Given the description of an element on the screen output the (x, y) to click on. 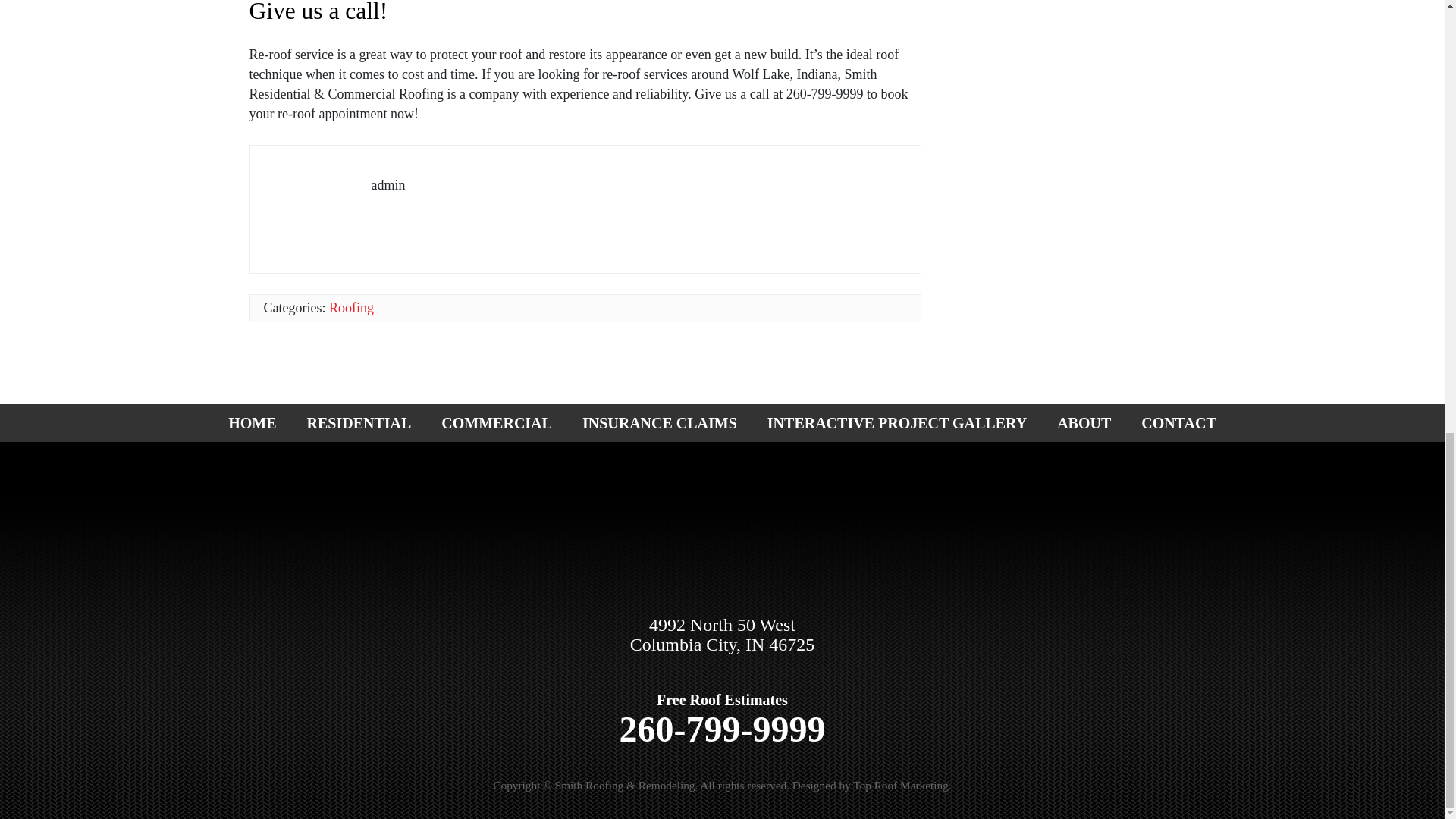
HOME (251, 423)
Re-Roof - Wolf Lake, Indiana 3 (318, 198)
INTERACTIVE PROJECT GALLERY (897, 423)
RESIDENTIAL (359, 423)
COMMERCIAL (496, 423)
Roofing (351, 307)
INSURANCE CLAIMS (659, 423)
